Given the description of an element on the screen output the (x, y) to click on. 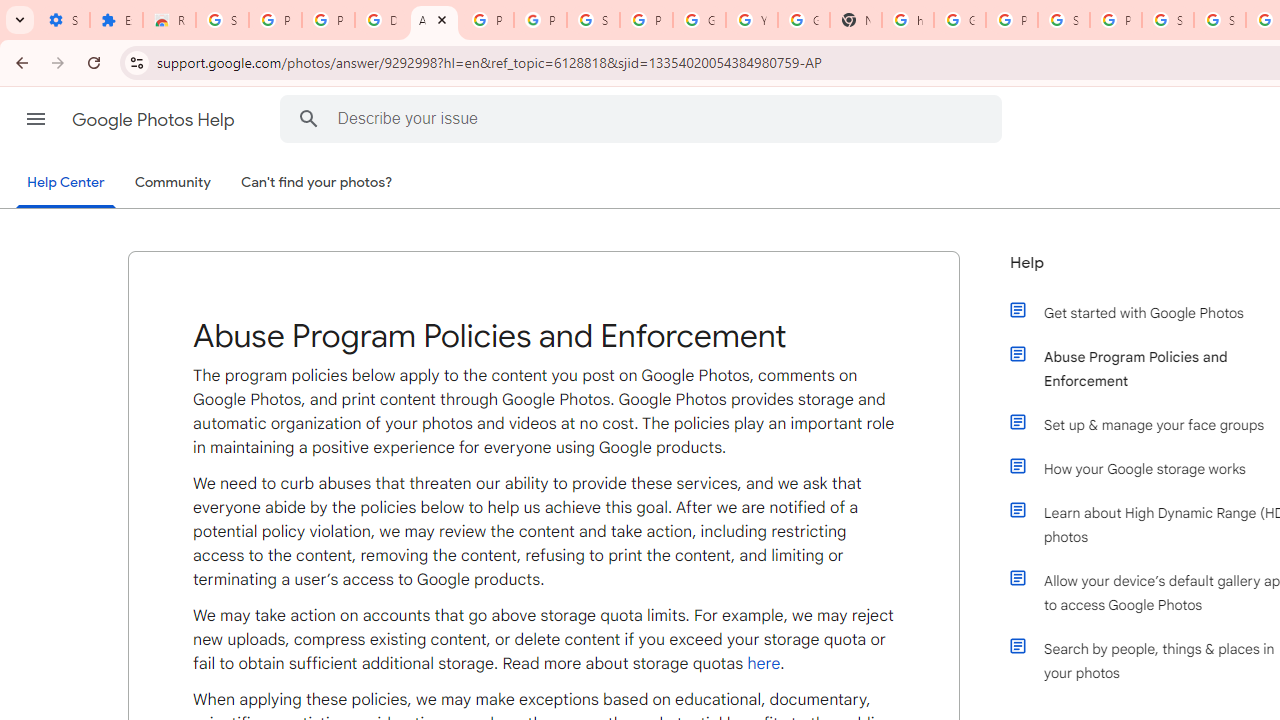
Delete photos & videos - Computer - Google Photos Help (381, 20)
Google Account (699, 20)
Abuse Program Policies and Enforcement - Google Photos Help (434, 20)
Main menu (35, 119)
Google Photos Help (155, 119)
Help Center (65, 183)
YouTube (751, 20)
